Given the description of an element on the screen output the (x, y) to click on. 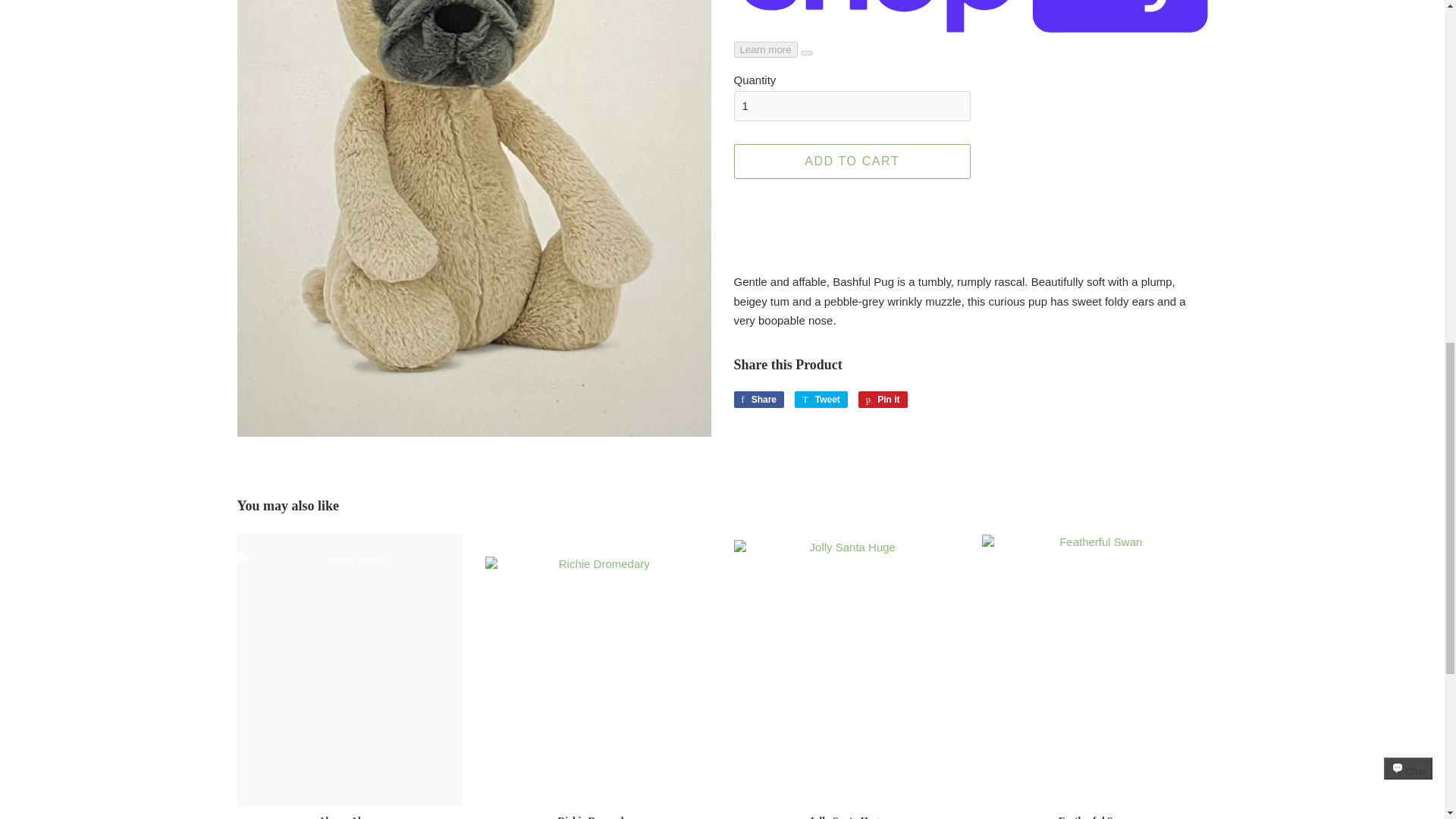
1 (852, 105)
Share on Facebook (883, 399)
ADD TO CART (820, 399)
Tweet on Twitter (758, 399)
Pin on Pinterest (852, 161)
